Given the description of an element on the screen output the (x, y) to click on. 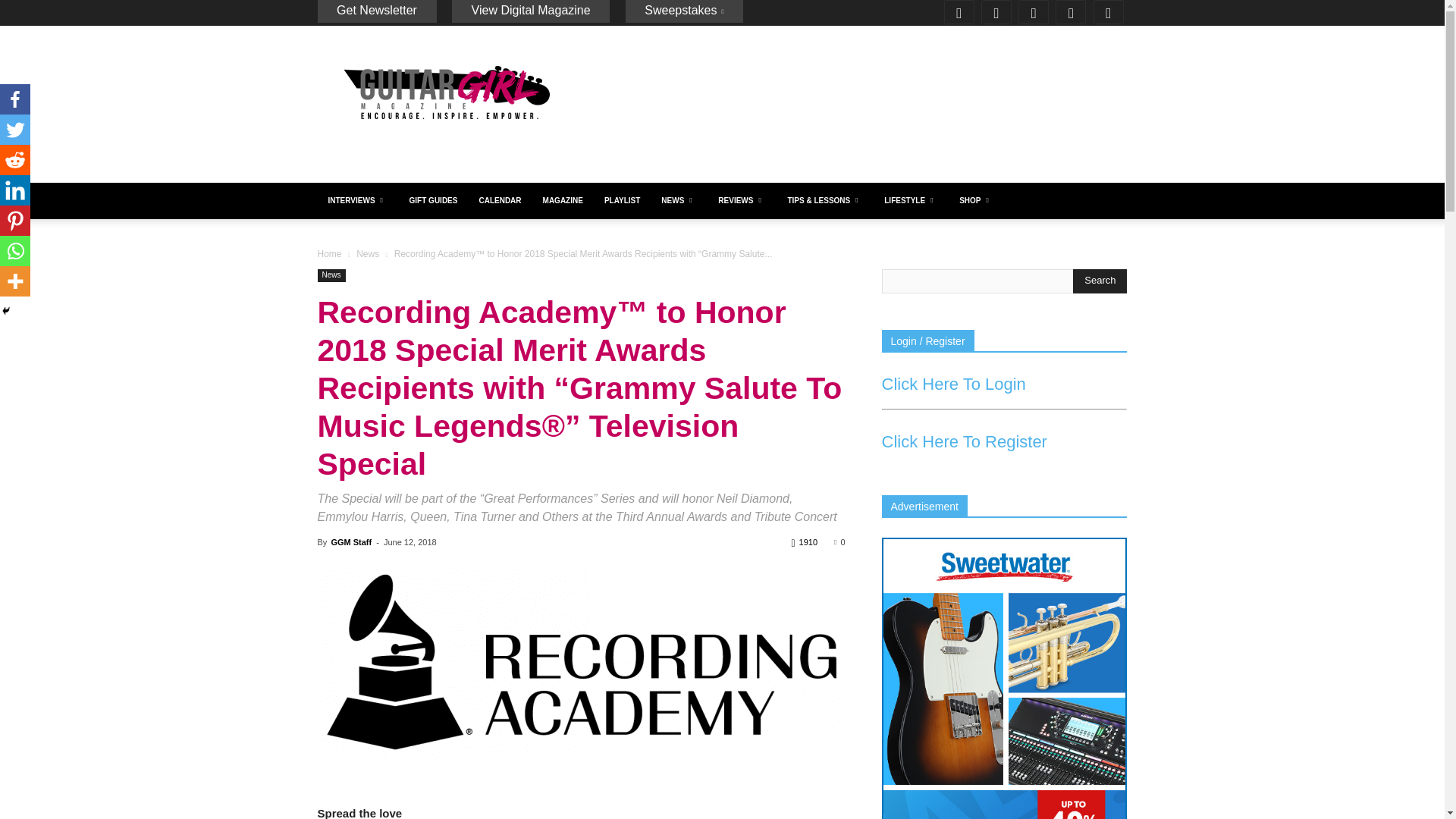
Guitar Girl Magazine (445, 92)
Pinterest (1034, 12)
Search (1099, 281)
Facebook (960, 12)
View all posts in News (367, 253)
Twitter (1072, 12)
Youtube (1109, 12)
Instagram (997, 12)
